Given the description of an element on the screen output the (x, y) to click on. 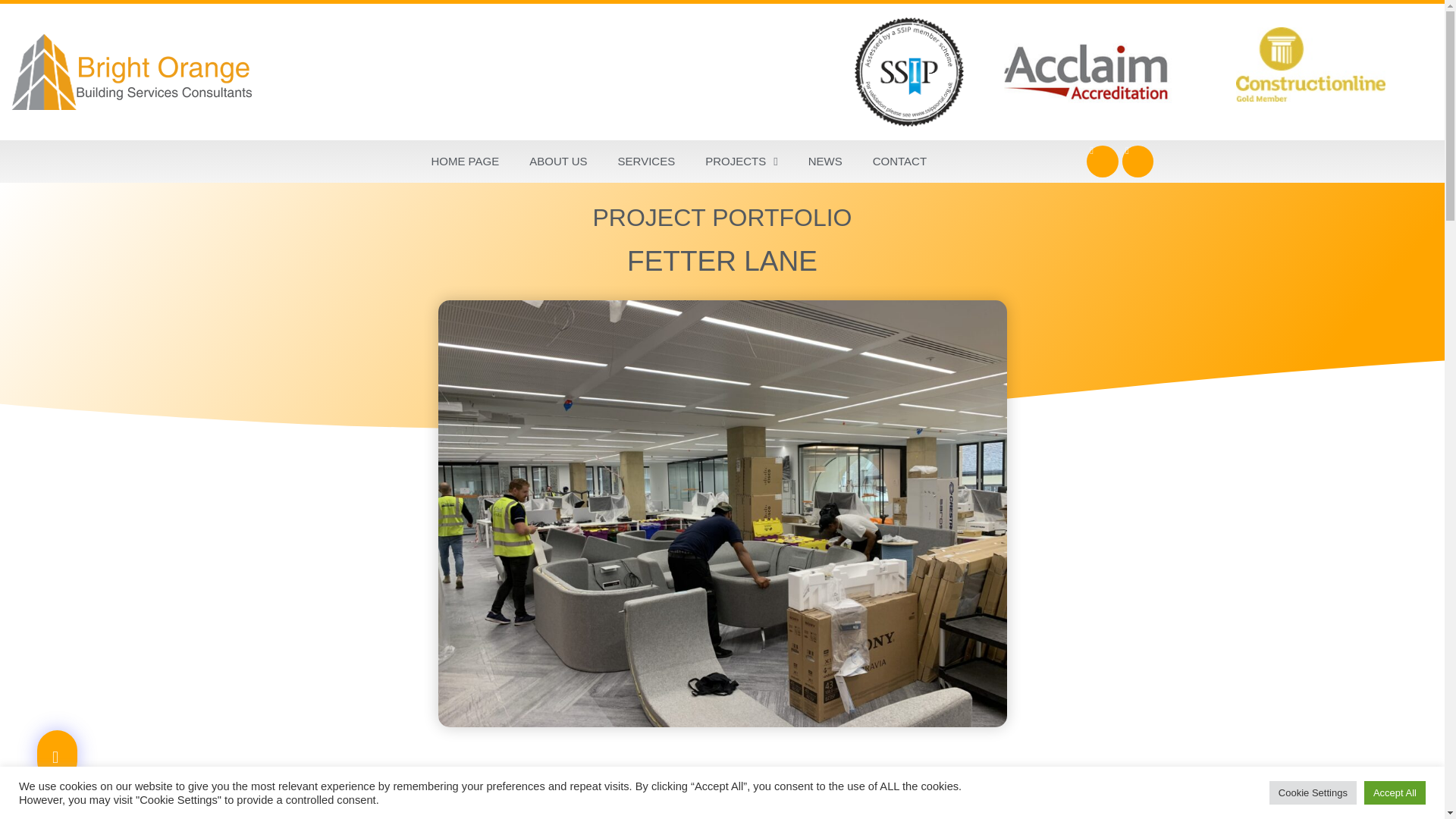
ABOUT US (557, 161)
CONTACT (899, 161)
HOME PAGE (463, 161)
PROJECTS (741, 161)
NEWS (825, 161)
SERVICES (646, 161)
